Given the description of an element on the screen output the (x, y) to click on. 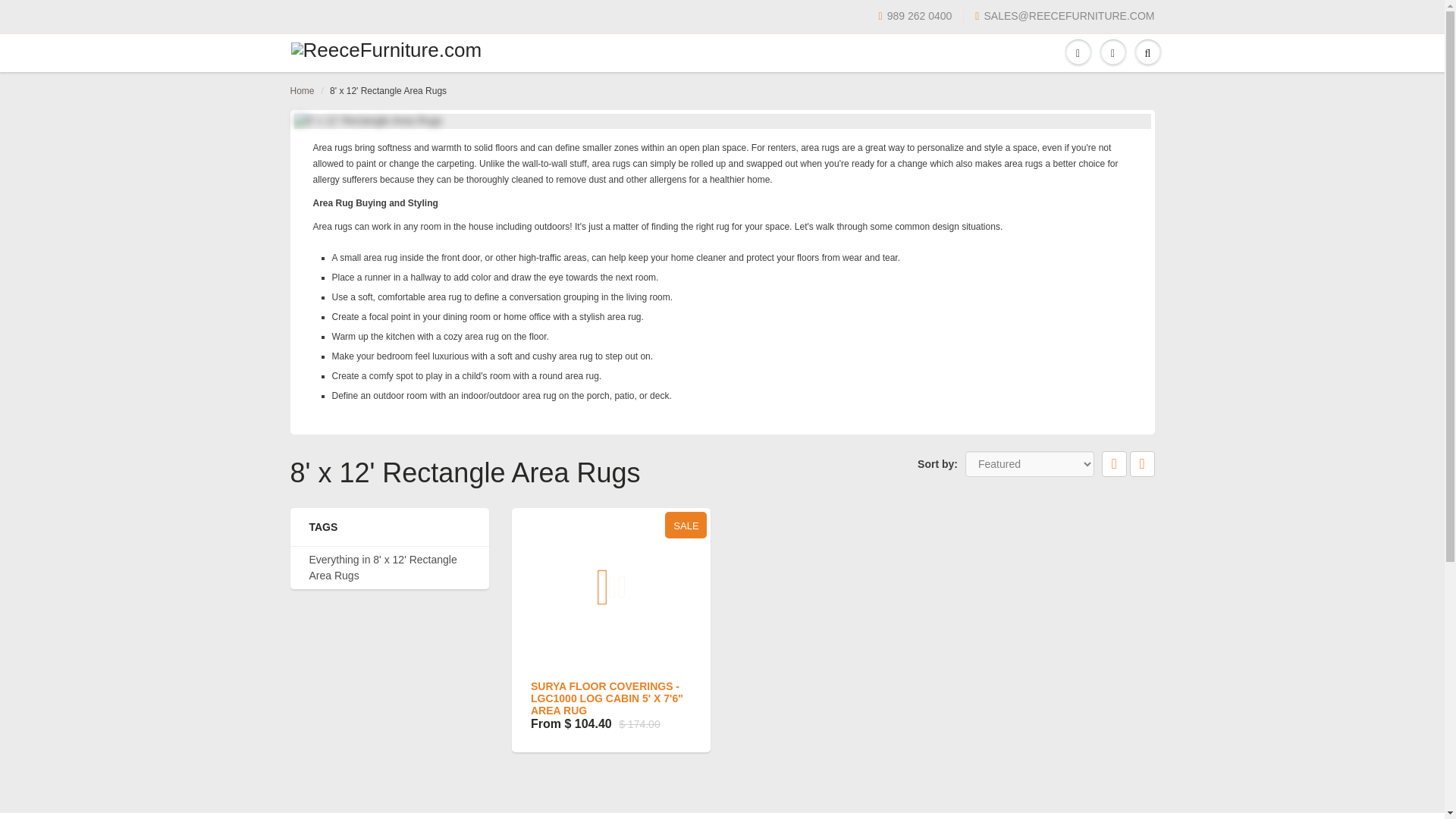
Home (301, 90)
Grid view (1114, 463)
Everything in 8' x 12' Rectangle Area Rugs (389, 567)
989 262 0400 (915, 16)
List View (1141, 463)
SURYA FLOOR COVERINGS - LGC1000 LOG CABIN 5' X 7'6" AREA RUG (606, 698)
Home (301, 90)
TAGS (389, 526)
